Given the description of an element on the screen output the (x, y) to click on. 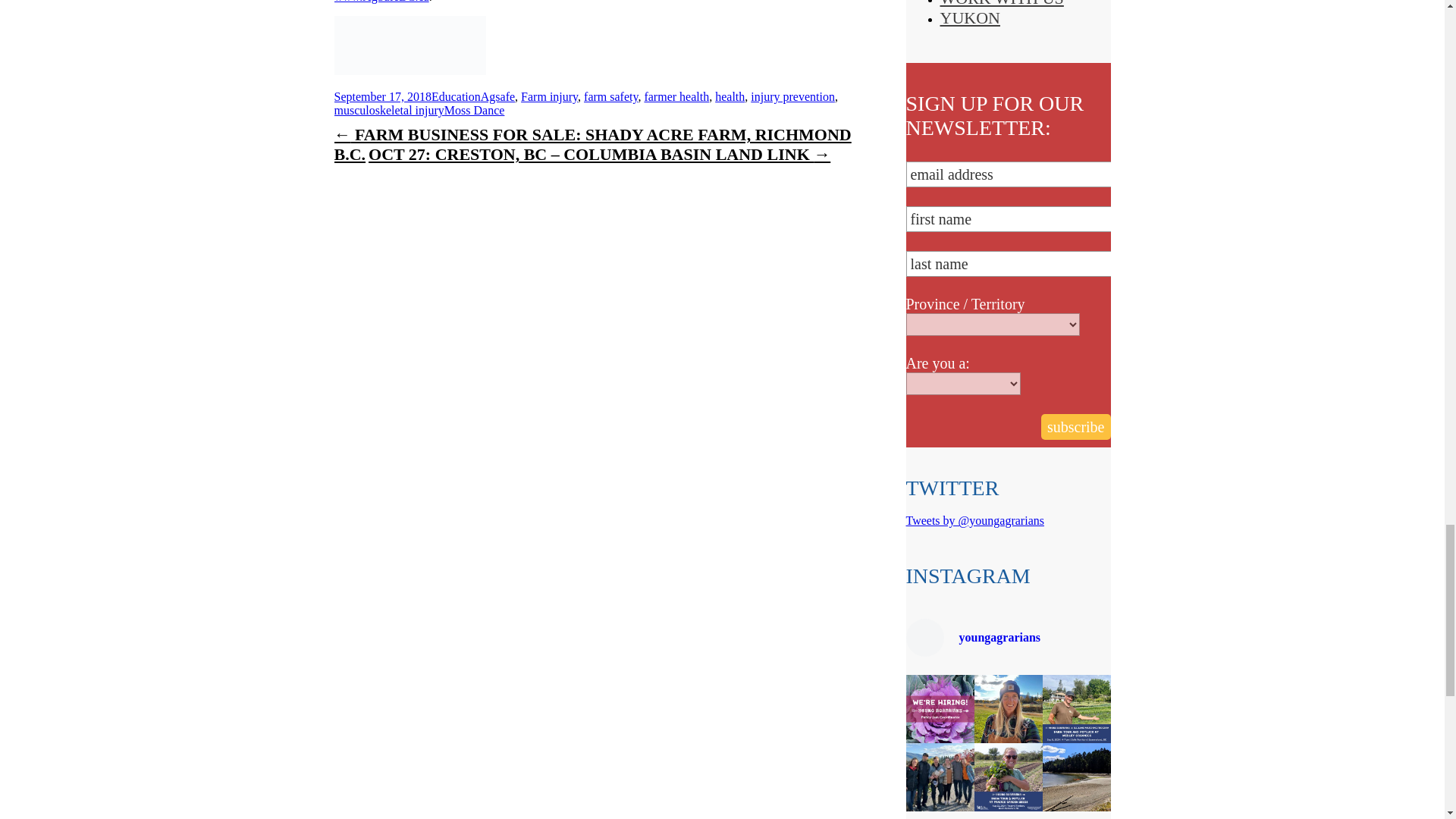
View all posts by Moss Dance (474, 110)
Subscribe (1075, 426)
